Given the description of an element on the screen output the (x, y) to click on. 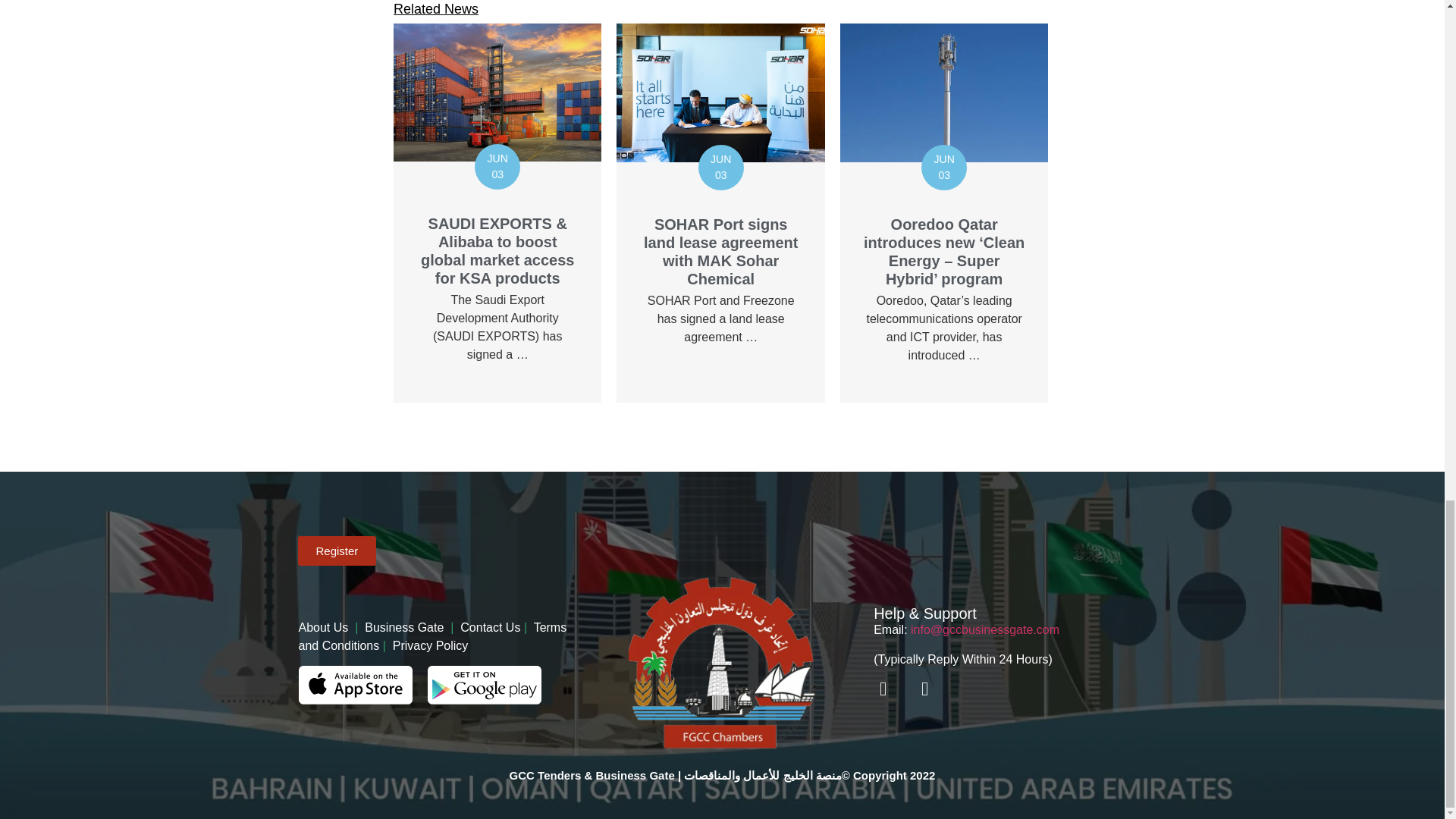
Contact Us (489, 626)
Business Gate   (407, 626)
About Us   (326, 626)
Register (336, 550)
